Given the description of an element on the screen output the (x, y) to click on. 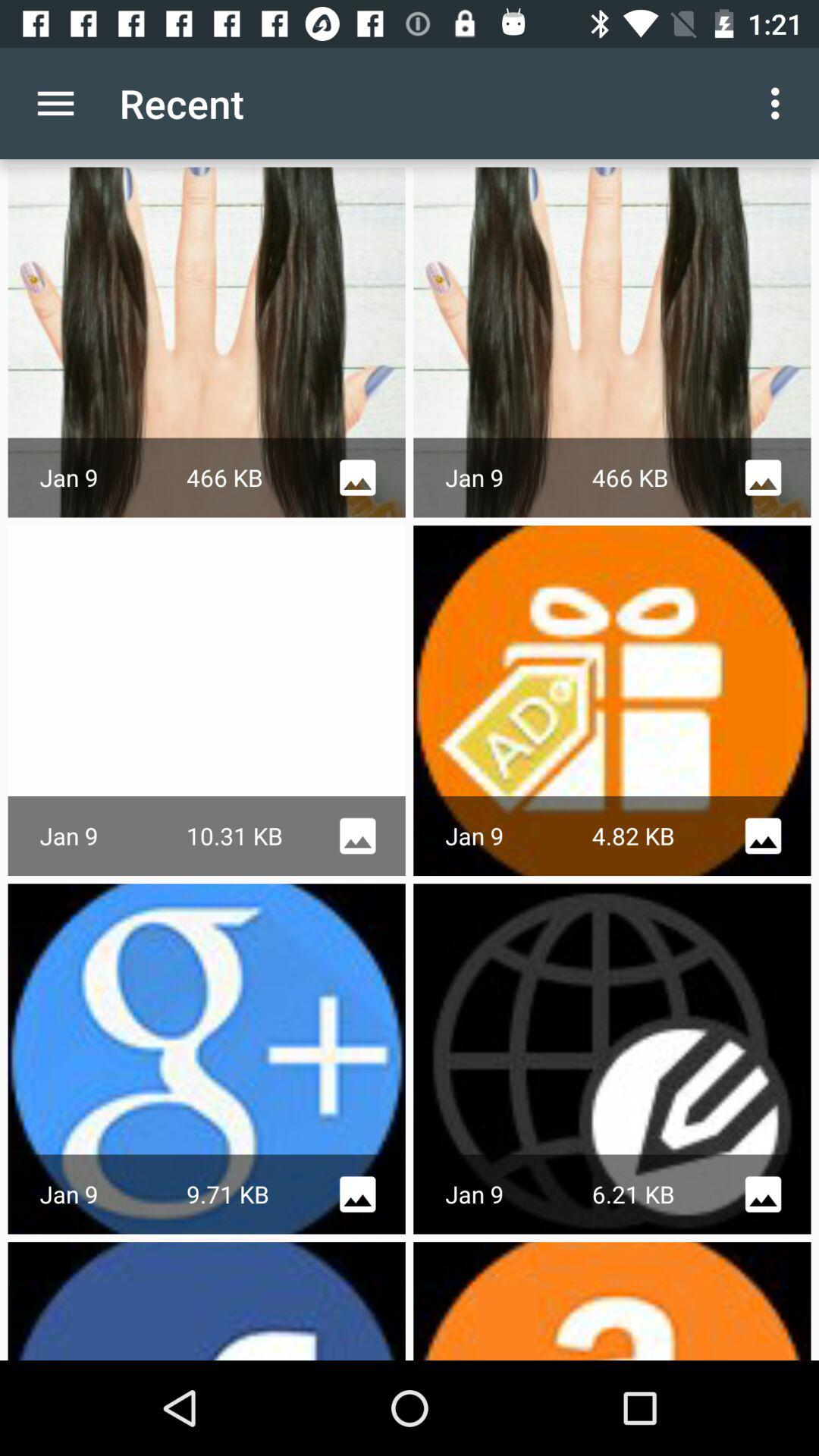
press the icon to the left of recent app (55, 103)
